Given the description of an element on the screen output the (x, y) to click on. 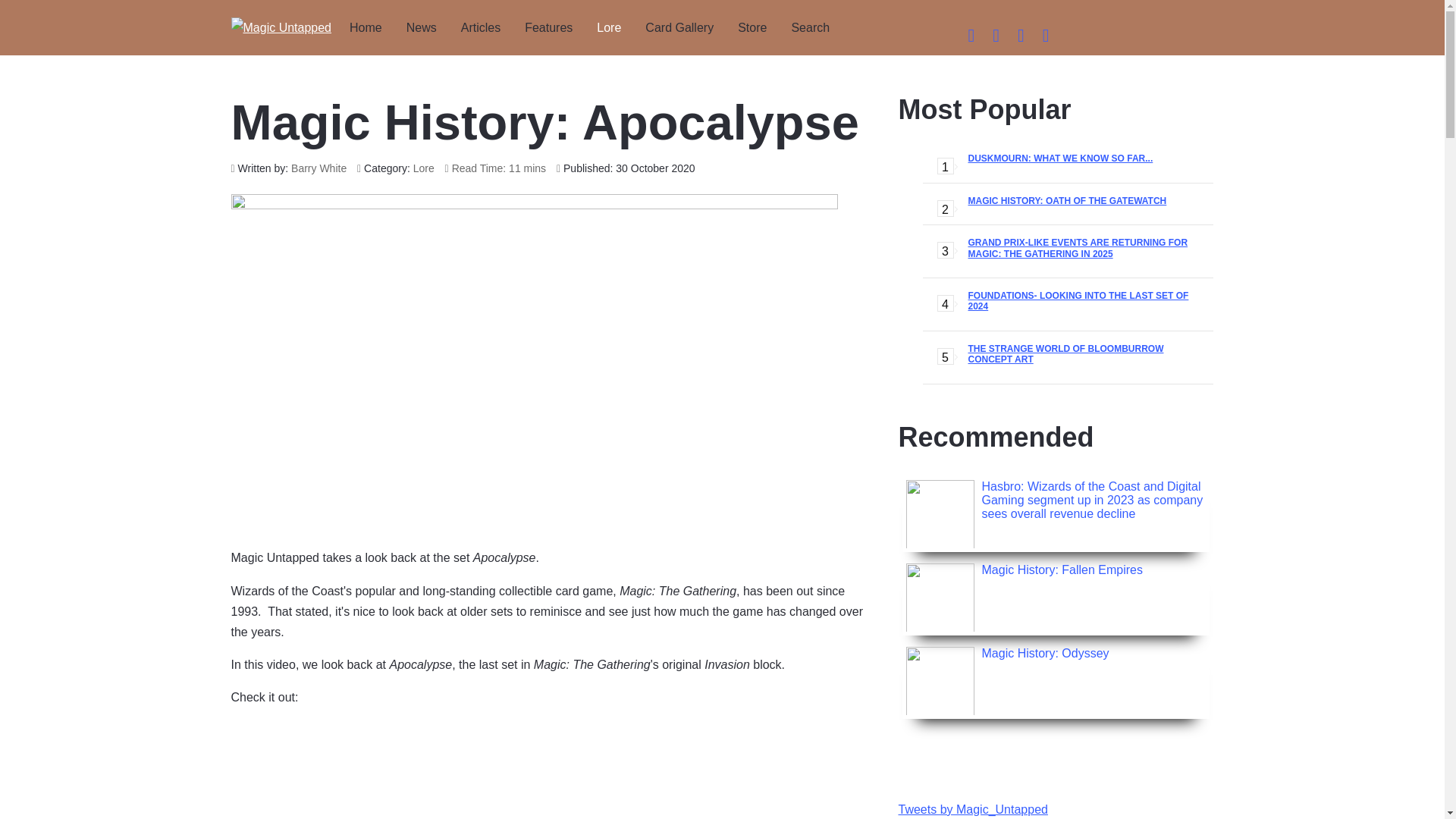
Articles (480, 27)
Card Gallery (679, 27)
Home (365, 27)
Store (751, 27)
Articles (480, 27)
Search (809, 27)
Lore (609, 27)
Features (548, 27)
Features (548, 27)
News (421, 27)
